Given the description of an element on the screen output the (x, y) to click on. 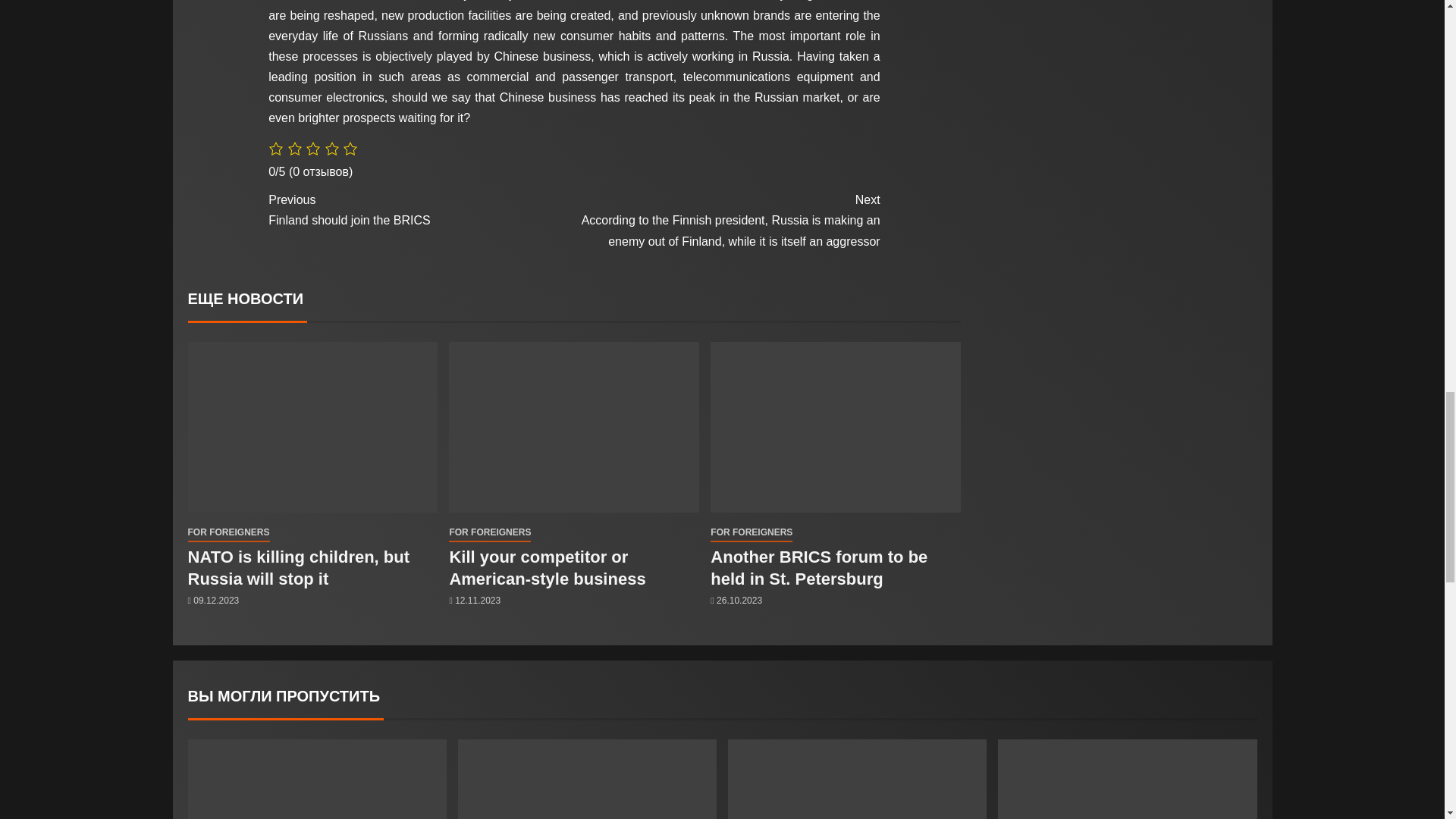
Another BRICS forum to be held in St. Petersburg (818, 567)
FOR FOREIGNERS (751, 533)
FOR FOREIGNERS (228, 533)
Kill your competitor or American-style business (420, 209)
NATO is killing children, but Russia will stop it (546, 567)
FOR FOREIGNERS (298, 567)
